Given the description of an element on the screen output the (x, y) to click on. 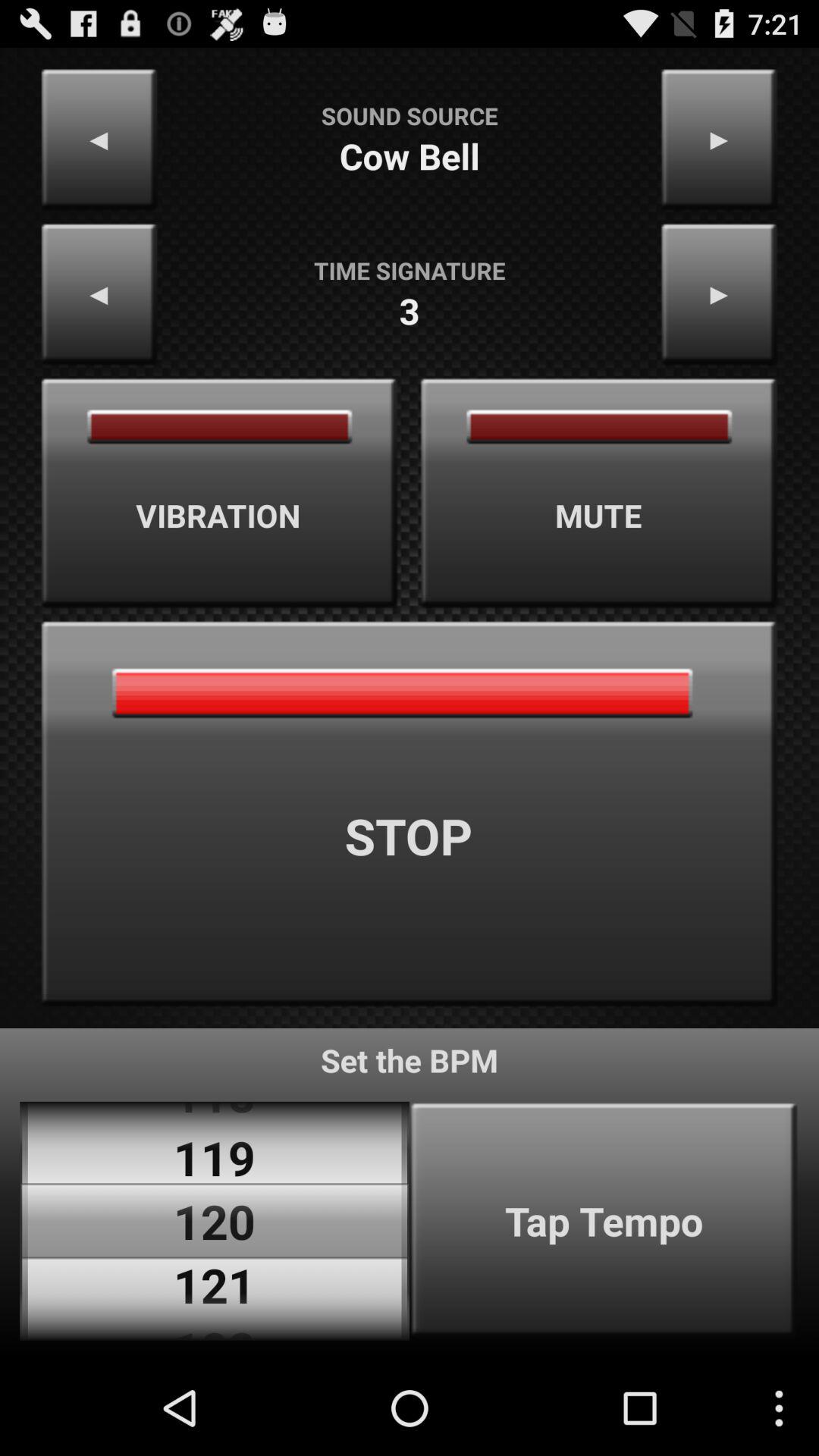
flip to the mute (599, 493)
